Given the description of an element on the screen output the (x, y) to click on. 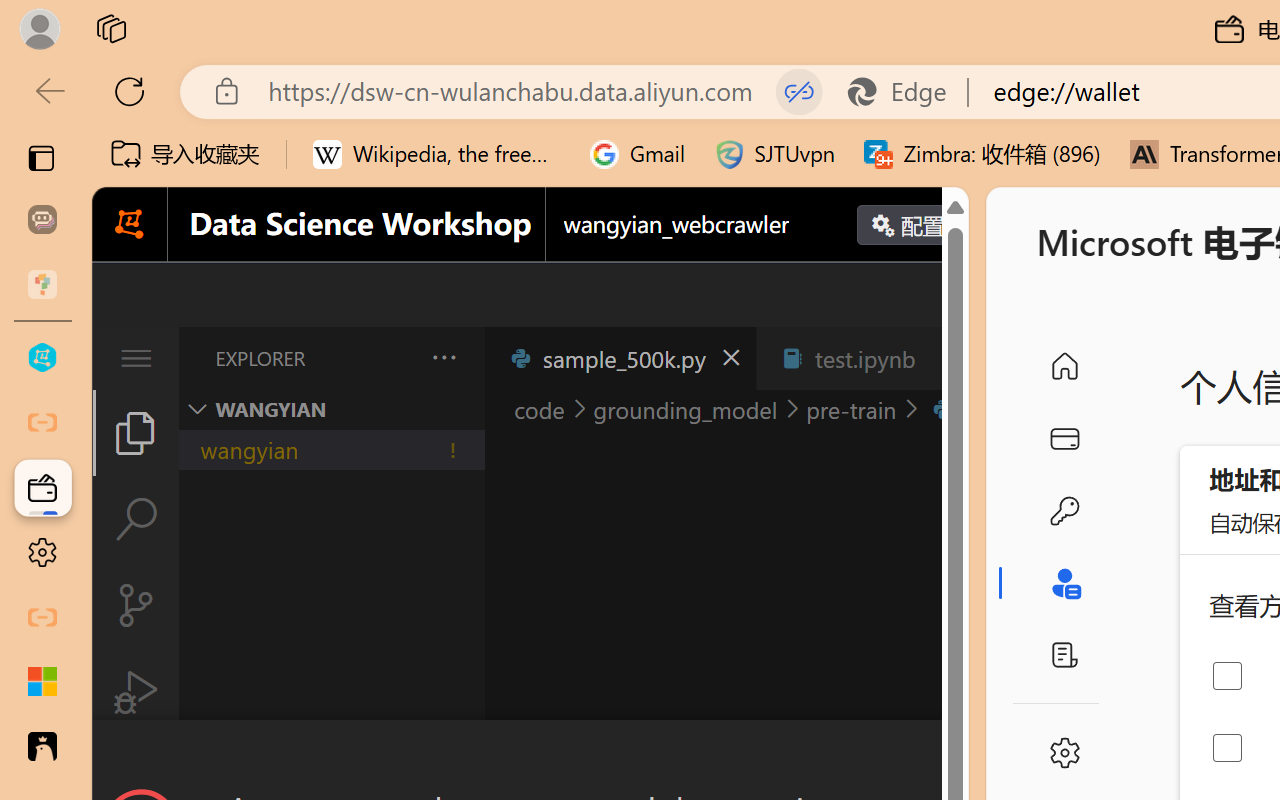
Tab actions (945, 358)
Edge (905, 91)
SJTUvpn (774, 154)
Views and More Actions... (442, 357)
Class: actions-container (529, 756)
Search (Ctrl+Shift+F) (135, 519)
Source Control (Ctrl+Shift+G) (135, 604)
Close (Ctrl+F4) (946, 358)
